Given the description of an element on the screen output the (x, y) to click on. 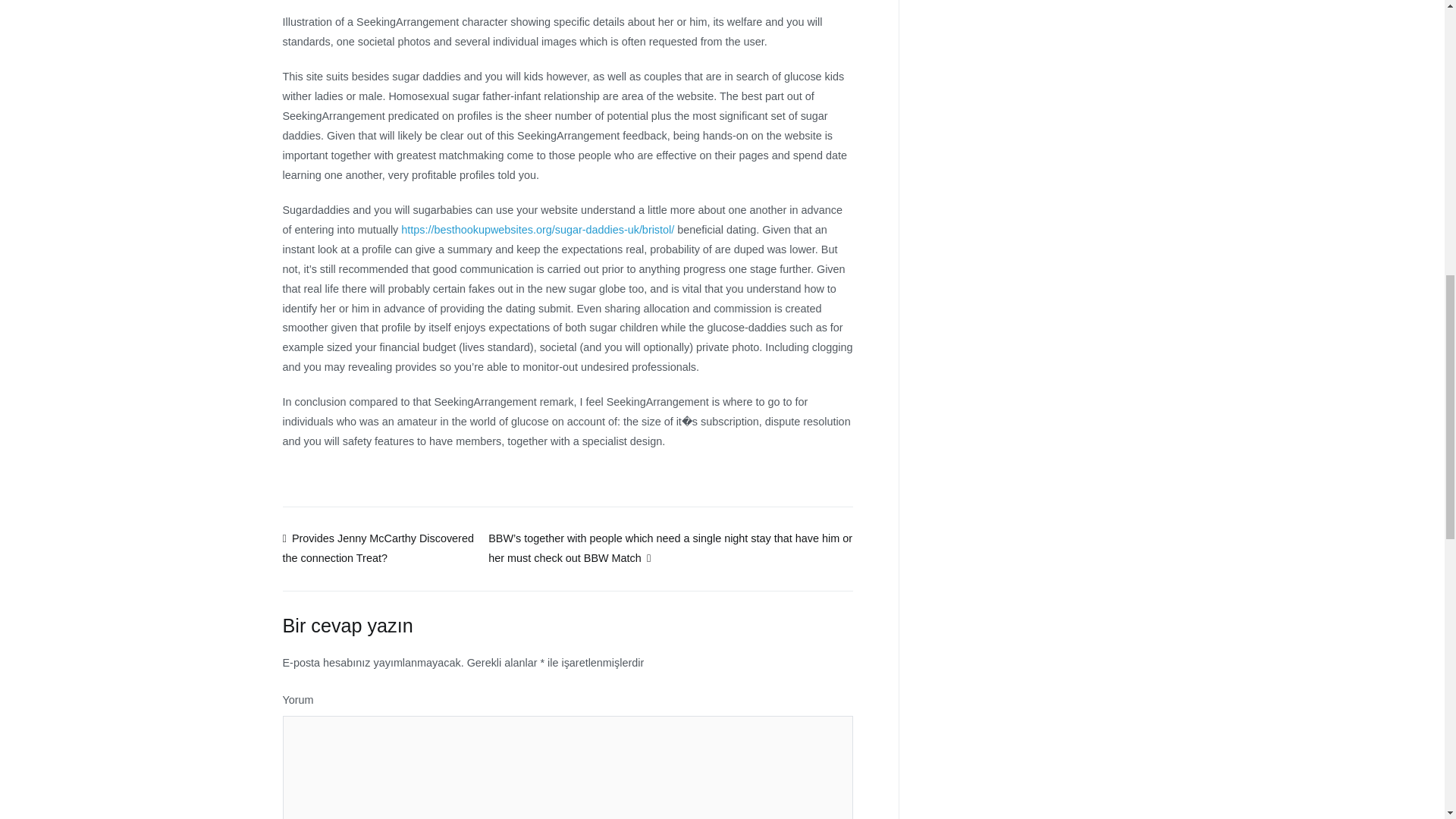
Provides Jenny McCarthy Discovered the connection Treat? (377, 548)
